Given the description of an element on the screen output the (x, y) to click on. 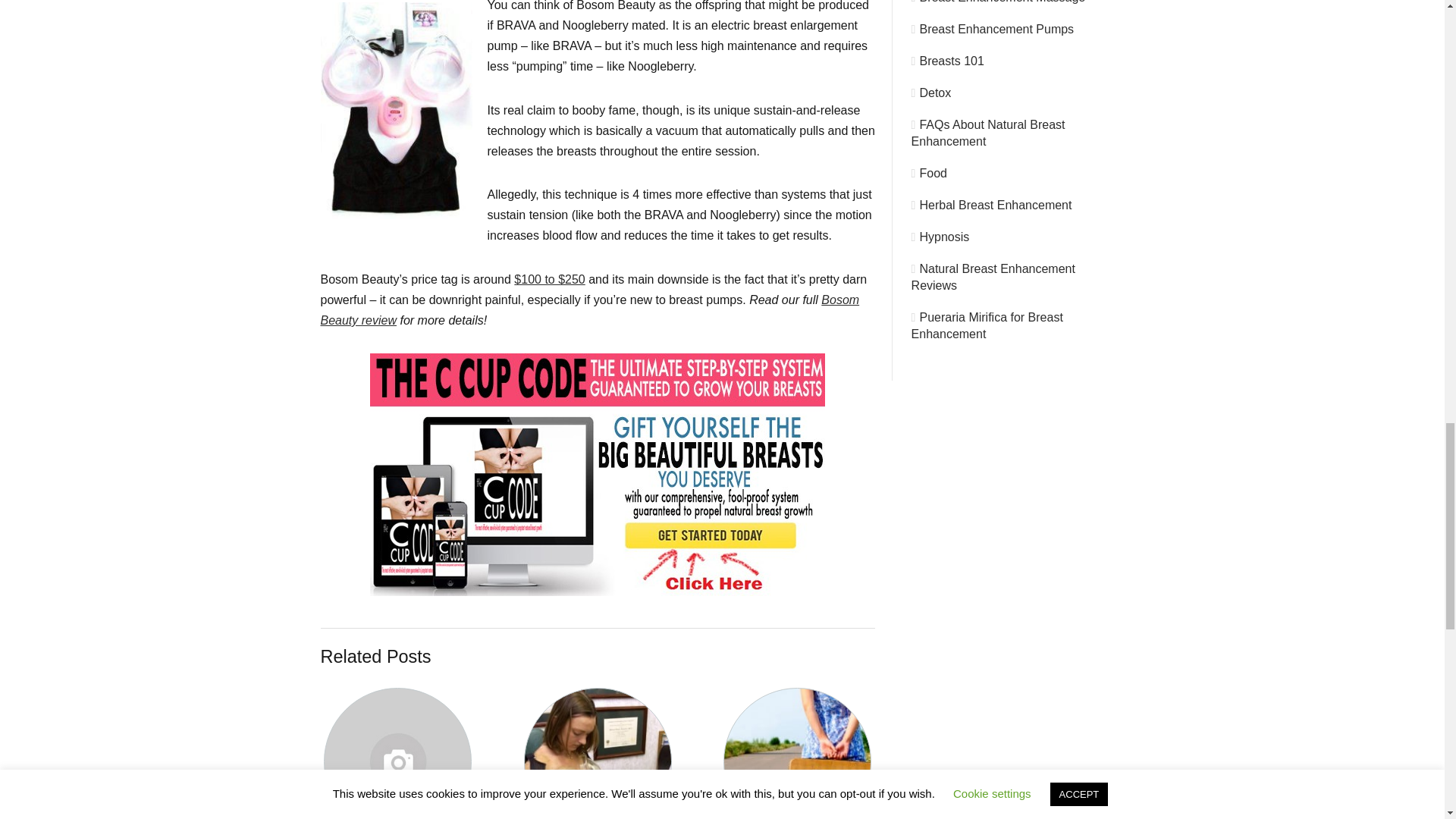
Bosom Beauty review (589, 309)
Bosom Beauty (549, 278)
